Given the description of an element on the screen output the (x, y) to click on. 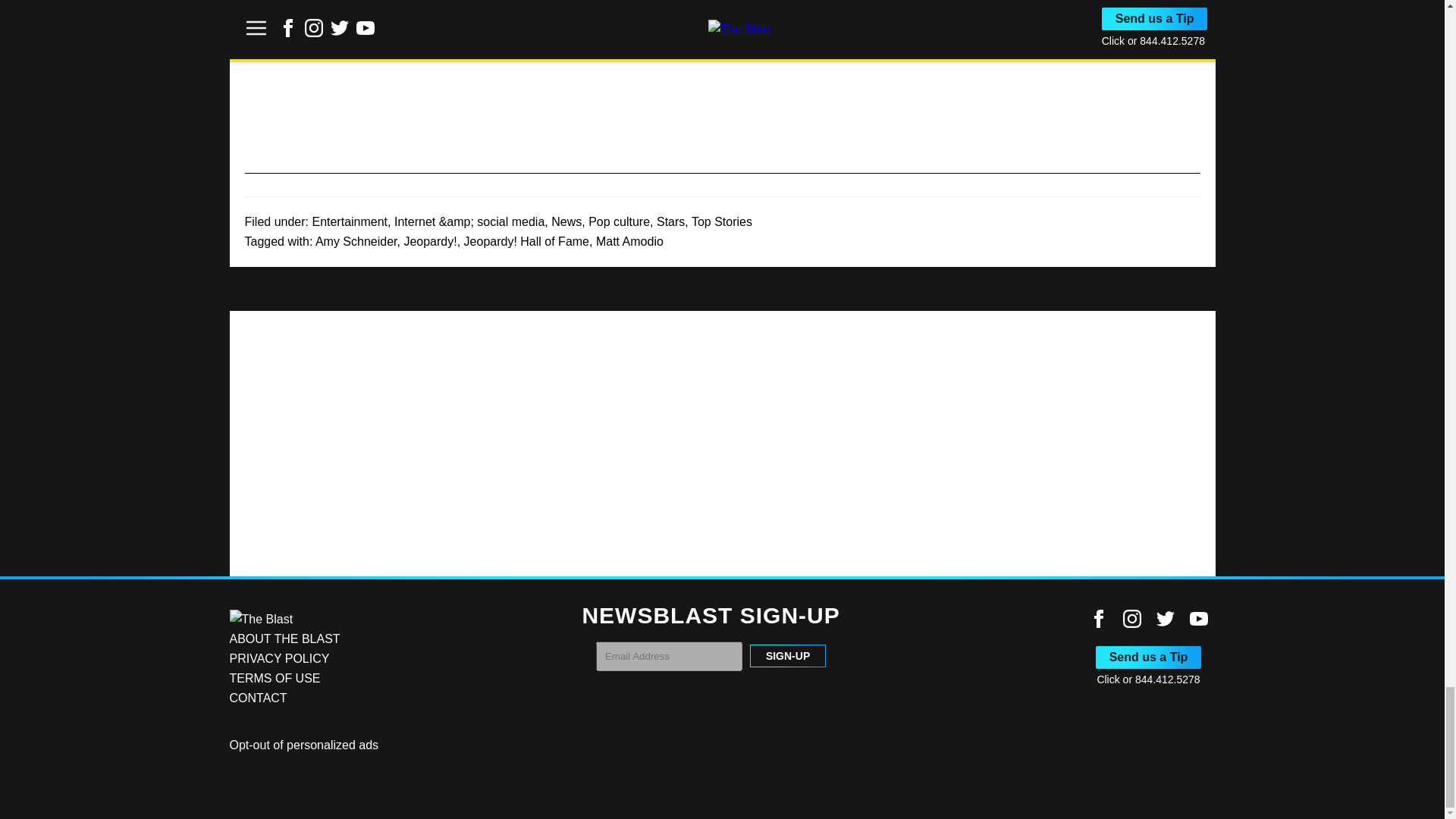
CONTACT (257, 697)
Link to Youtube (1198, 618)
Link to Instagram (1131, 618)
TERMS OF USE (274, 677)
Jeopardy! Hall of Fame (526, 241)
Matt Amodio (629, 241)
News (565, 221)
PRIVACY POLICY (278, 658)
Pop culture (618, 221)
Amy Schneider (356, 241)
Link to Facebook (1097, 618)
Stars (670, 221)
SIGN-UP (787, 655)
SIGN-UP (787, 655)
Top Stories (721, 221)
